Given the description of an element on the screen output the (x, y) to click on. 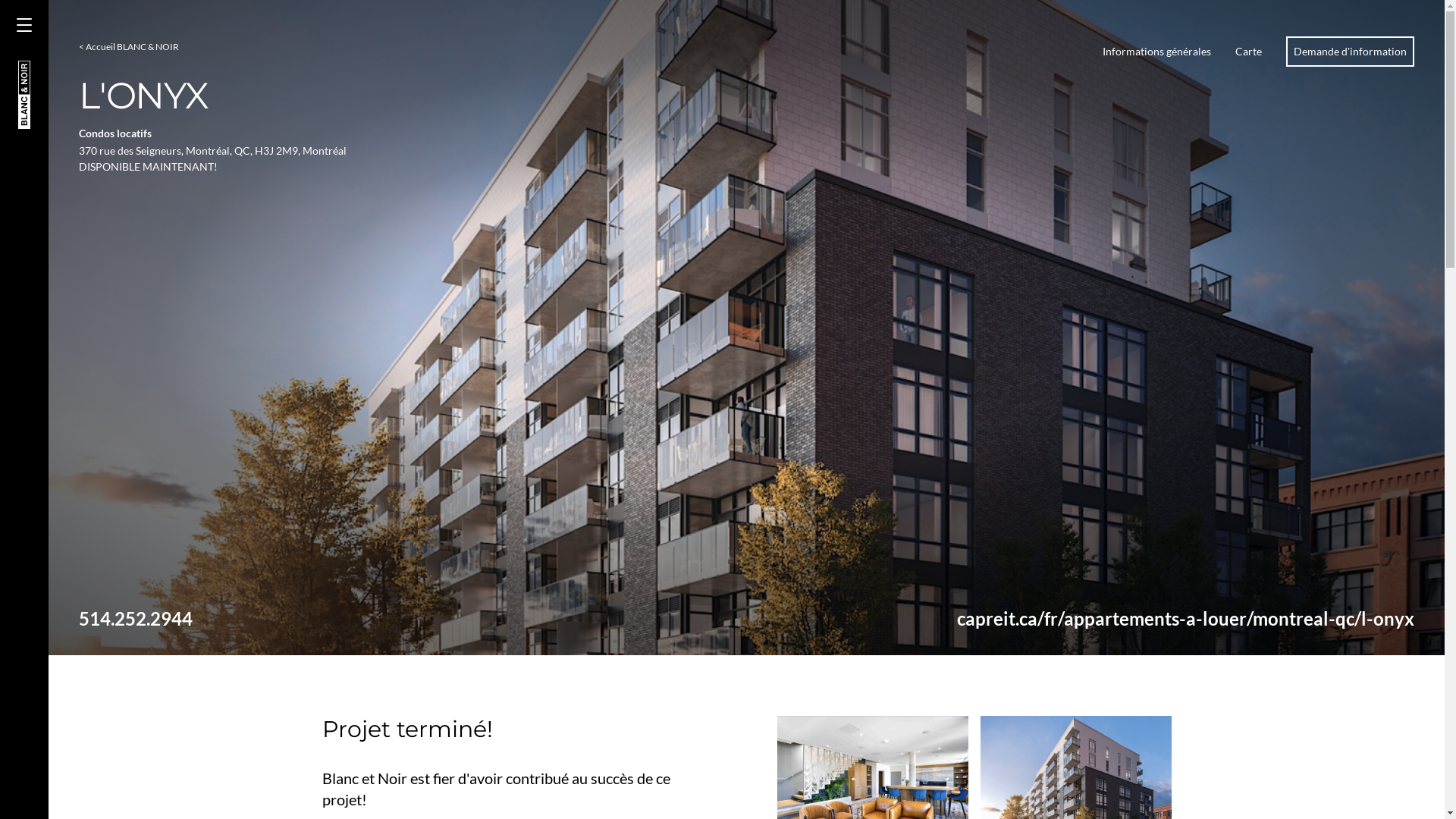
Carte Element type: text (1248, 51)
Carte Element type: text (1248, 630)
514.252.2944 Element type: text (395, 630)
< Accueil BLANC & NOIR Element type: text (128, 46)
Demande d'information Element type: text (1350, 51)
Demande d'information Element type: text (1350, 630)
capreit.ca/fr/appartements-a-louer/montreal-qc/l-onyx Element type: text (1185, 618)
514.252.2944 Element type: text (135, 618)
L'ONYX Element type: text (96, 630)
